Given the description of an element on the screen output the (x, y) to click on. 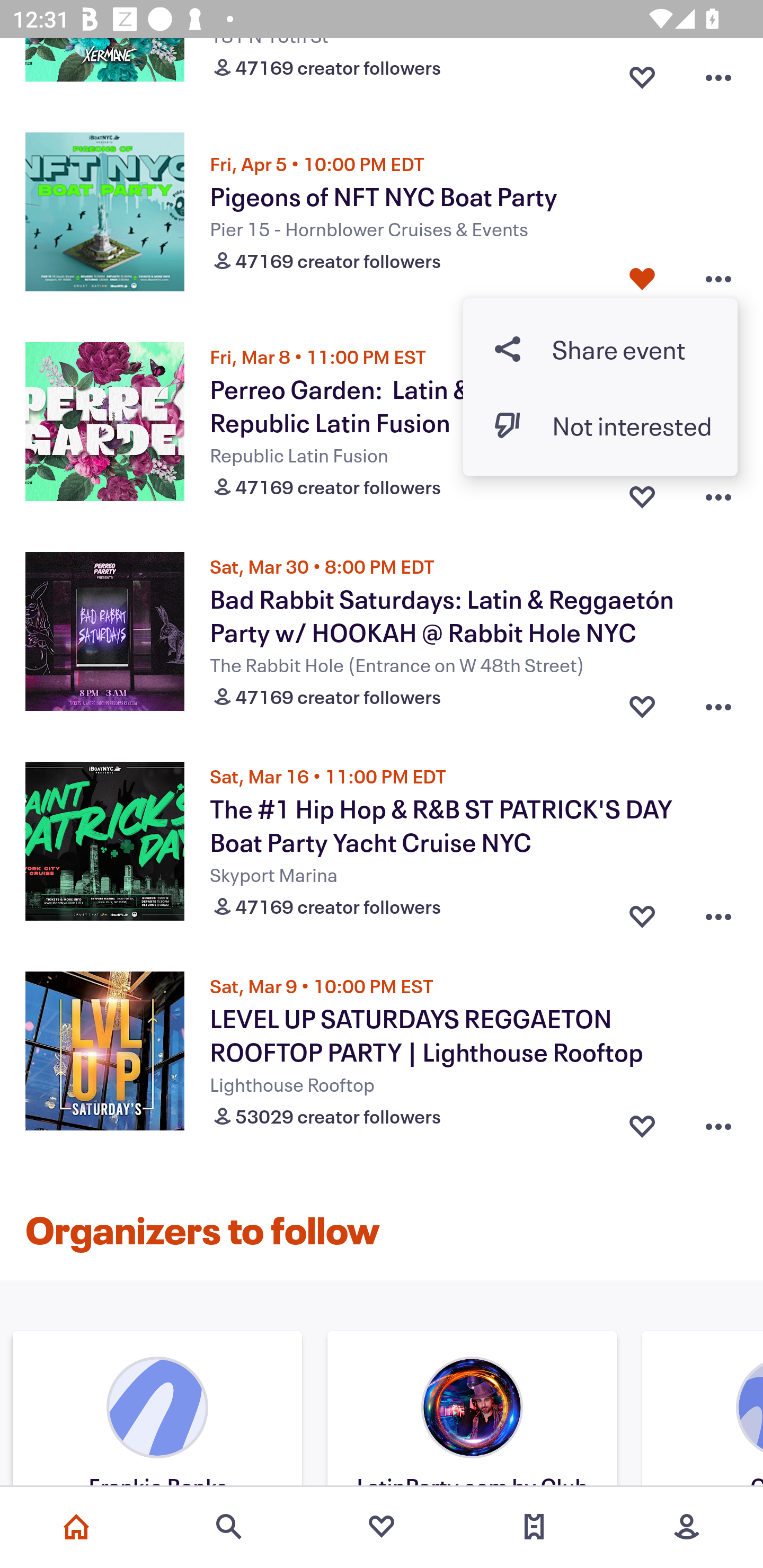
Share button Share event (600, 348)
Dislike event button Not interested (600, 425)
